Given the description of an element on the screen output the (x, y) to click on. 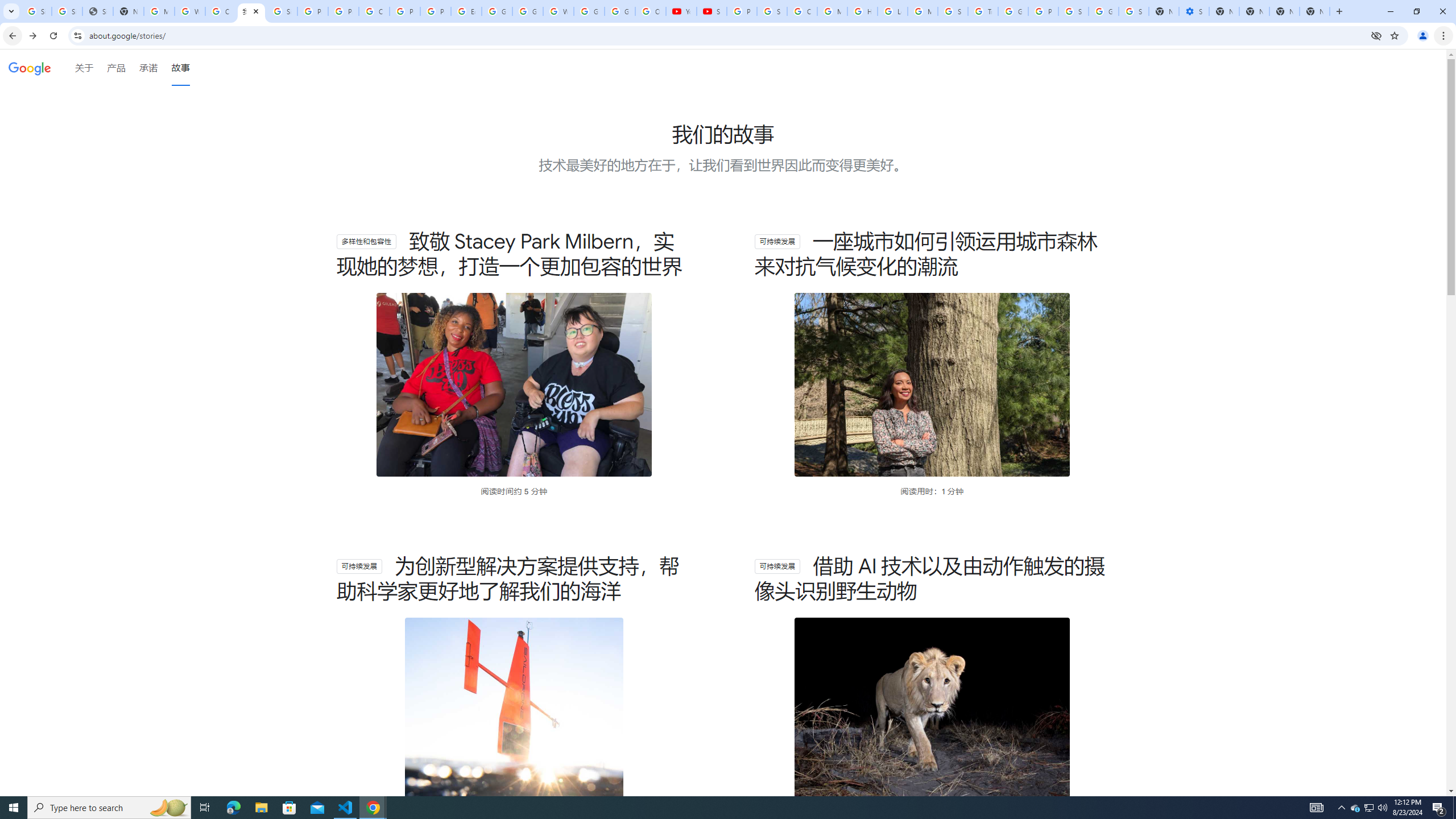
Google Cybersecurity Innovations - Google Safety Center (1103, 11)
Google Account (619, 11)
New Tab (1314, 11)
Sign in - Google Accounts (36, 11)
